Given the description of an element on the screen output the (x, y) to click on. 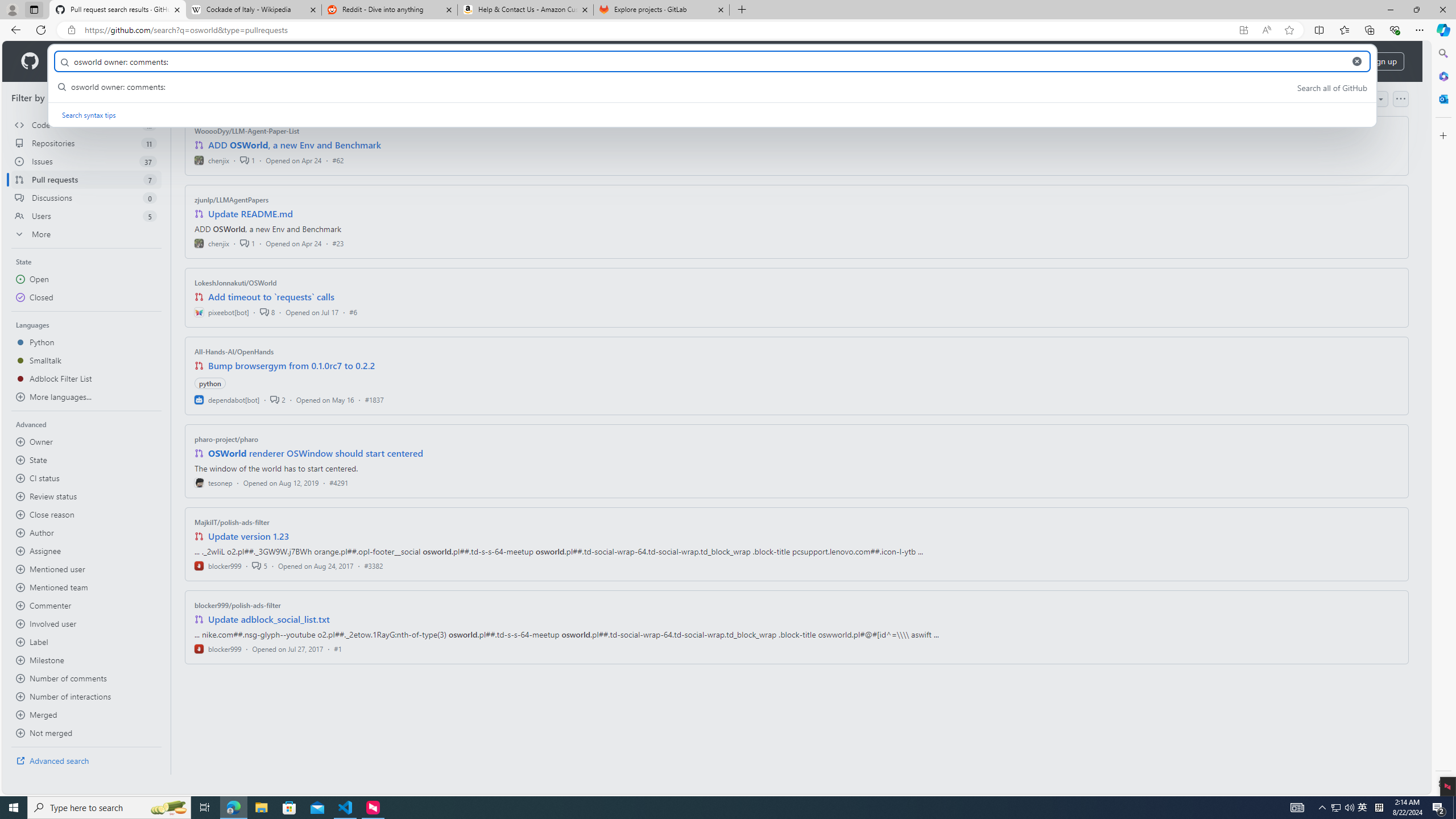
Sort by: Best match (1348, 98)
Sign up (1382, 61)
Bump browsergym from 0.1.0rc7 to 0.2.2 (291, 365)
#23 (337, 242)
chenjix (211, 242)
#1837 (374, 398)
Cockade of Italy - Wikipedia (253, 9)
Solutions (128, 60)
